Given the description of an element on the screen output the (x, y) to click on. 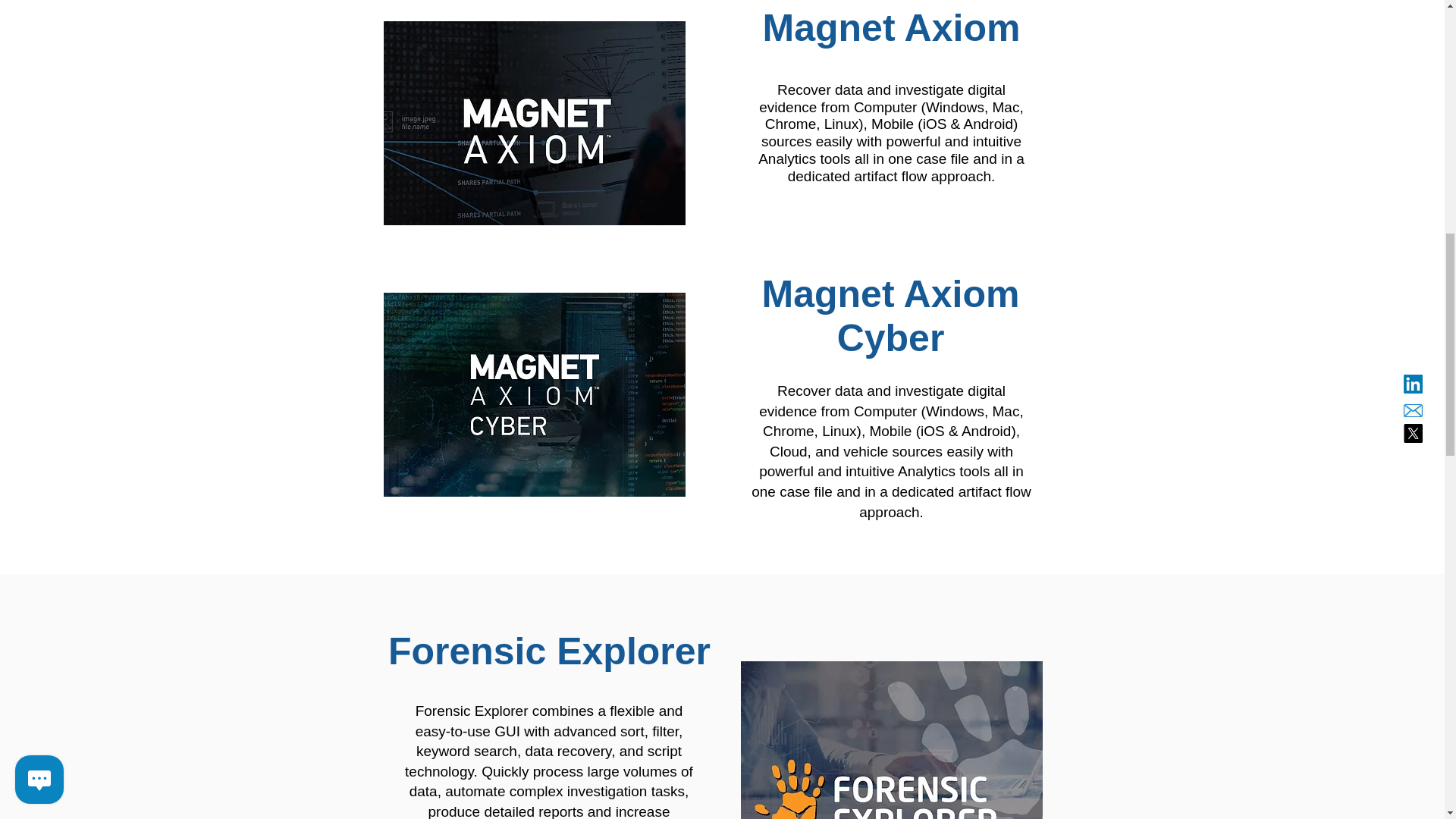
Digital forensic tool (534, 394)
Digital forensic tool (534, 123)
Digital forensic tool (890, 739)
